Given the description of an element on the screen output the (x, y) to click on. 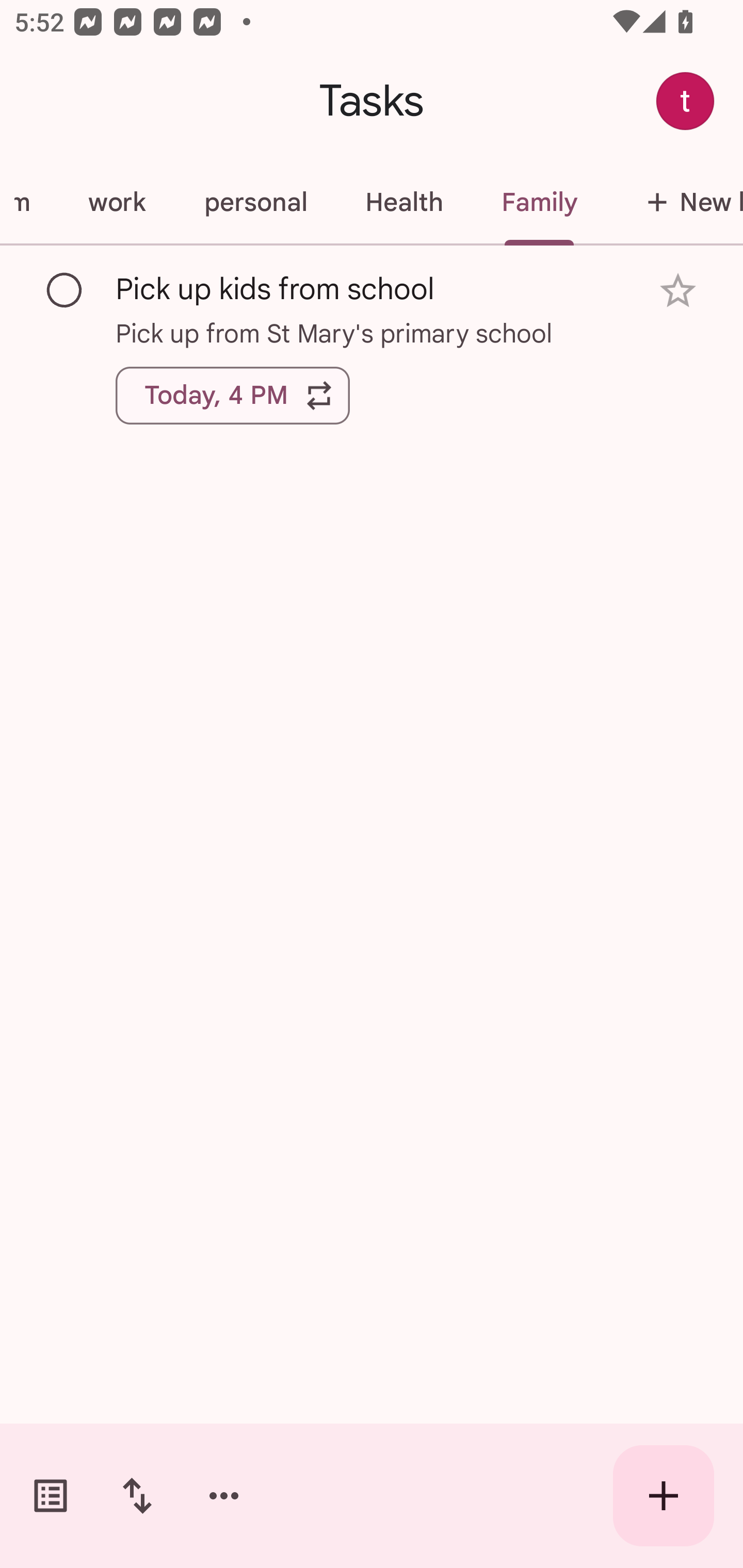
work (116, 202)
personal (254, 202)
Health (403, 202)
New list (675, 202)
Add star (677, 290)
Mark as complete (64, 290)
Pick up from St Mary's primary school (371, 332)
Today, 4 PM (232, 395)
Switch task lists (50, 1495)
Create new task (663, 1495)
Change sort order (136, 1495)
More options (223, 1495)
